Given the description of an element on the screen output the (x, y) to click on. 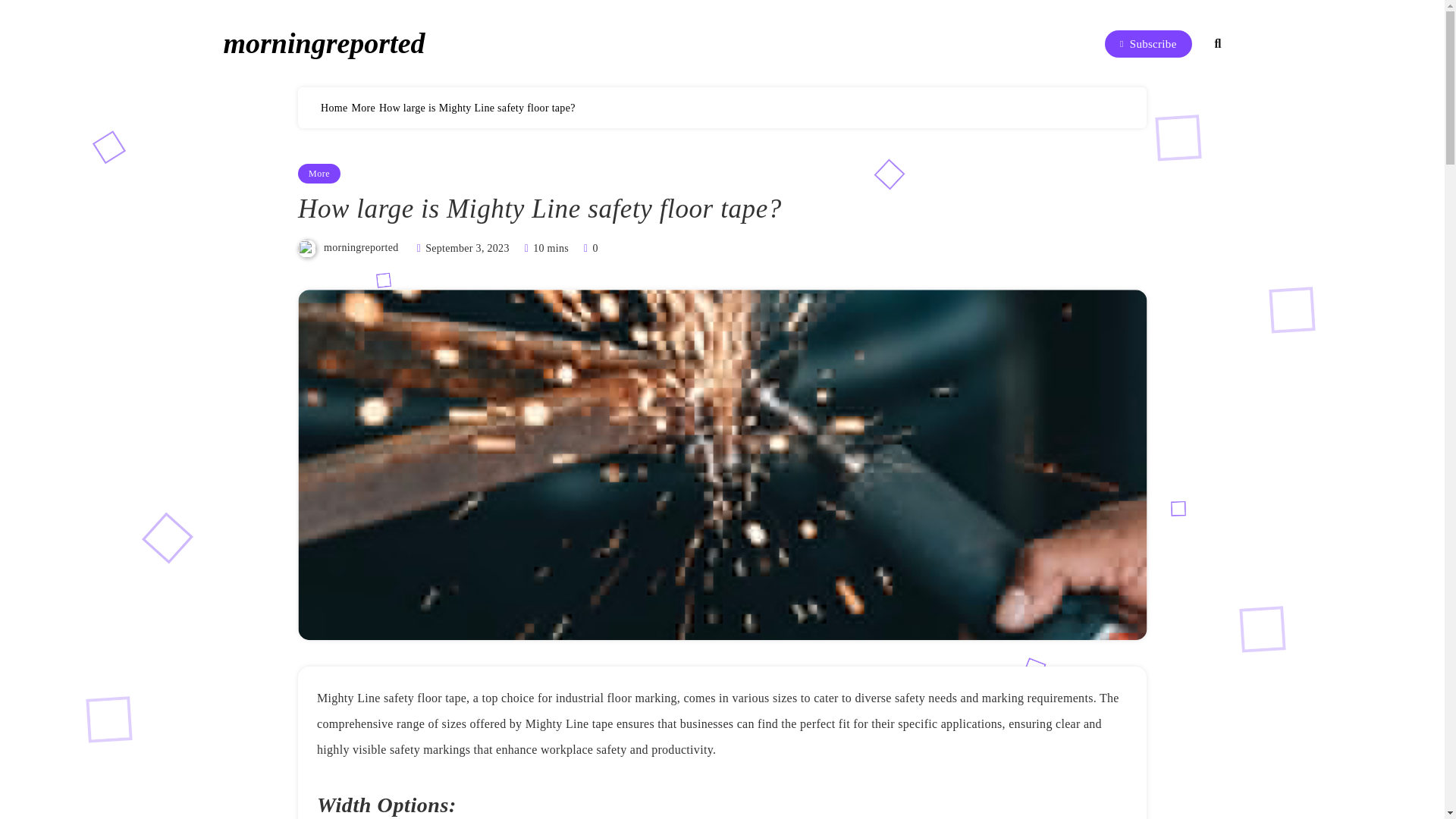
More (362, 107)
September 3, 2023 (466, 247)
Subscribe (1148, 43)
morningreported (323, 42)
More (319, 173)
Home (333, 107)
morningreported (360, 247)
0 (588, 247)
